Given the description of an element on the screen output the (x, y) to click on. 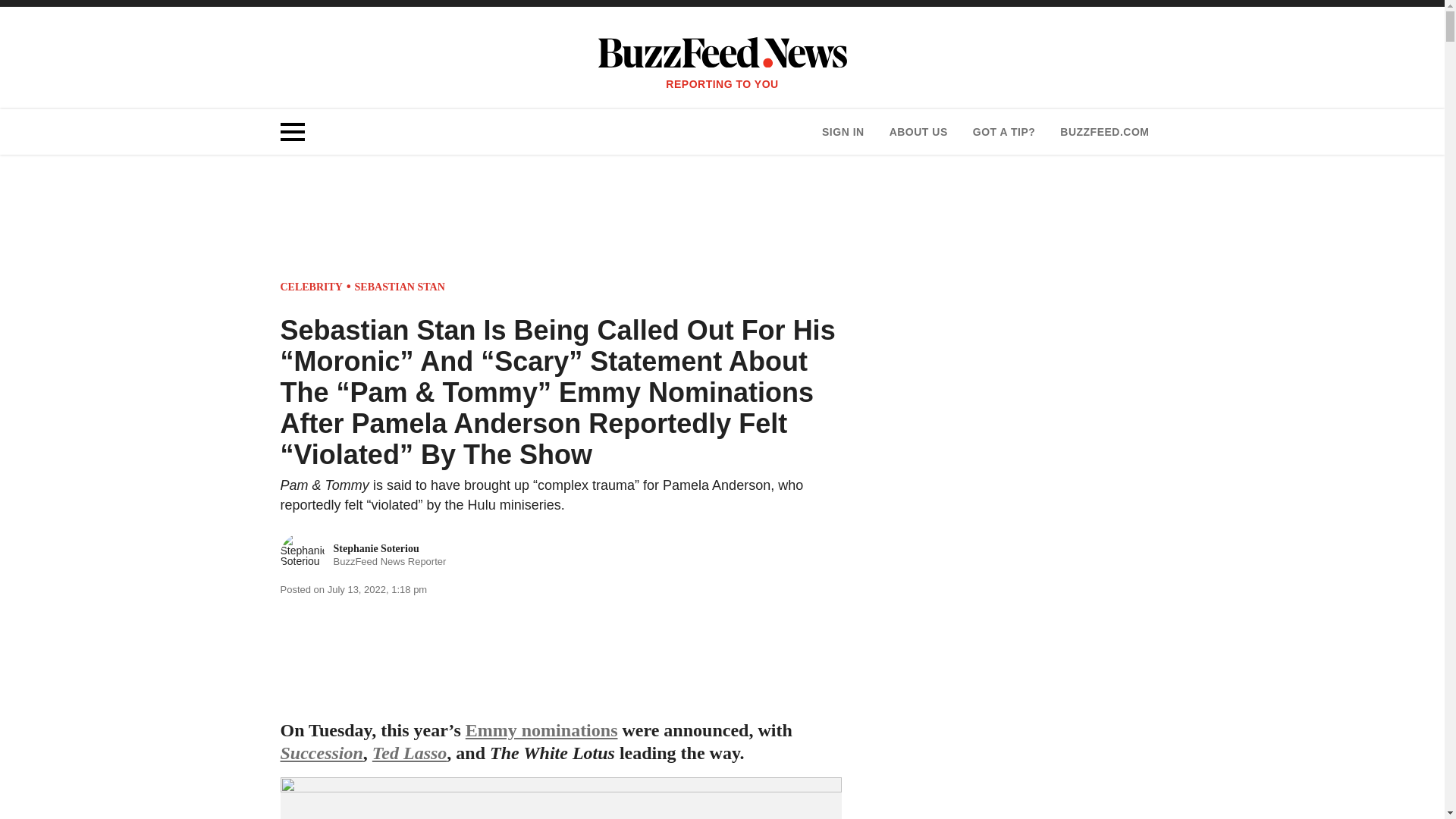
Succession (321, 752)
Emmy nominations (541, 730)
SIGN IN (842, 131)
SEBASTIAN STAN (400, 286)
Ted Lasso (363, 555)
CELEBRITY (409, 752)
BUZZFEED.COM (311, 286)
ABOUT US (1103, 131)
GOT A TIP? (917, 131)
